Given the description of an element on the screen output the (x, y) to click on. 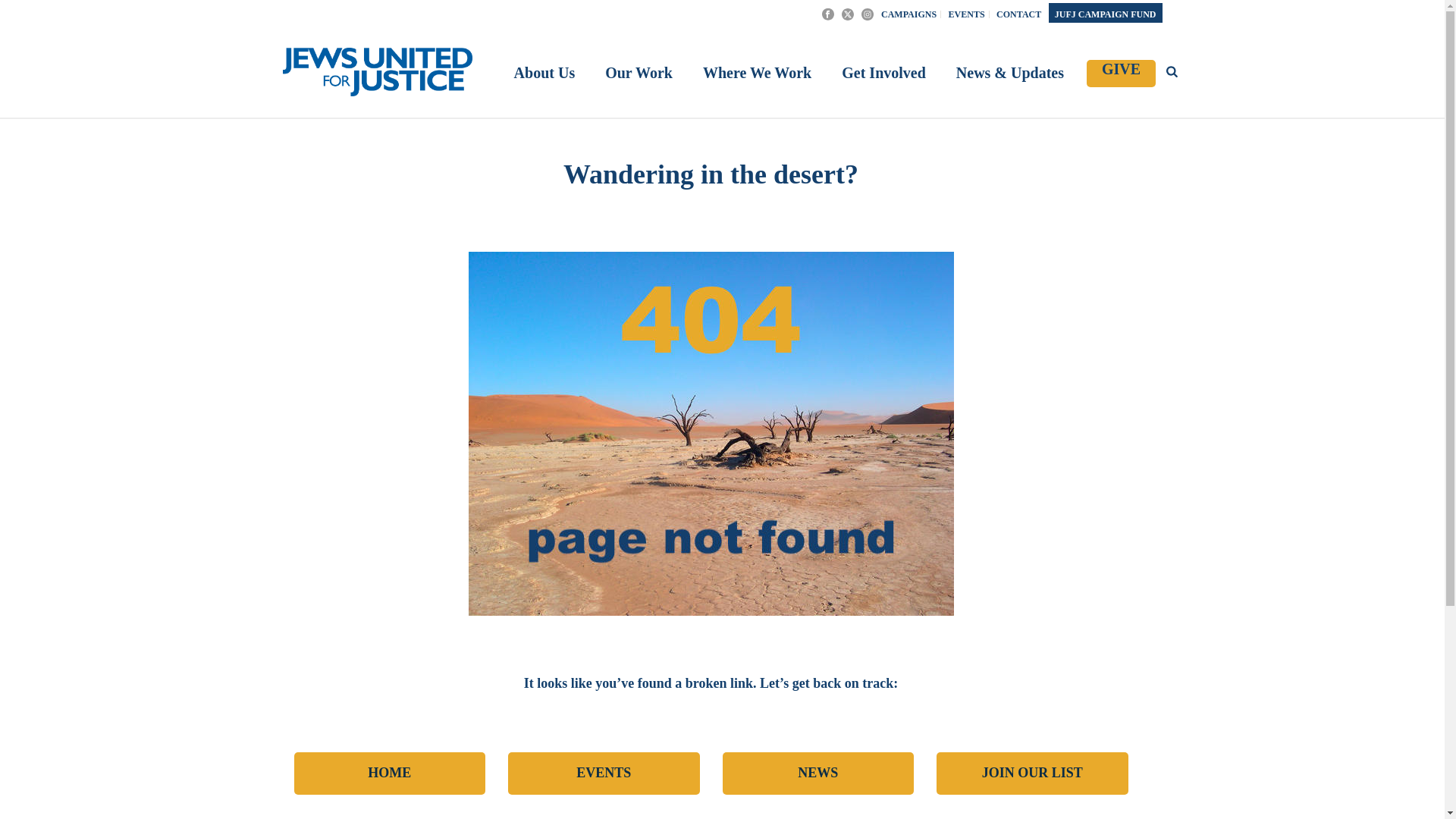
Where We Work (757, 73)
Where We Work (757, 73)
GIVE (1121, 72)
Our Work (638, 73)
CAMPAIGNS (908, 14)
About Us (545, 73)
Our Work (638, 73)
Think Jewishly. Act Locally. (376, 71)
EVENTS (967, 14)
JUFJ CAMPAIGN FUND (1104, 14)
EVENTS (604, 773)
JOIN OUR LIST (1032, 773)
CONTACT (1018, 14)
About Us (545, 73)
